Given the description of an element on the screen output the (x, y) to click on. 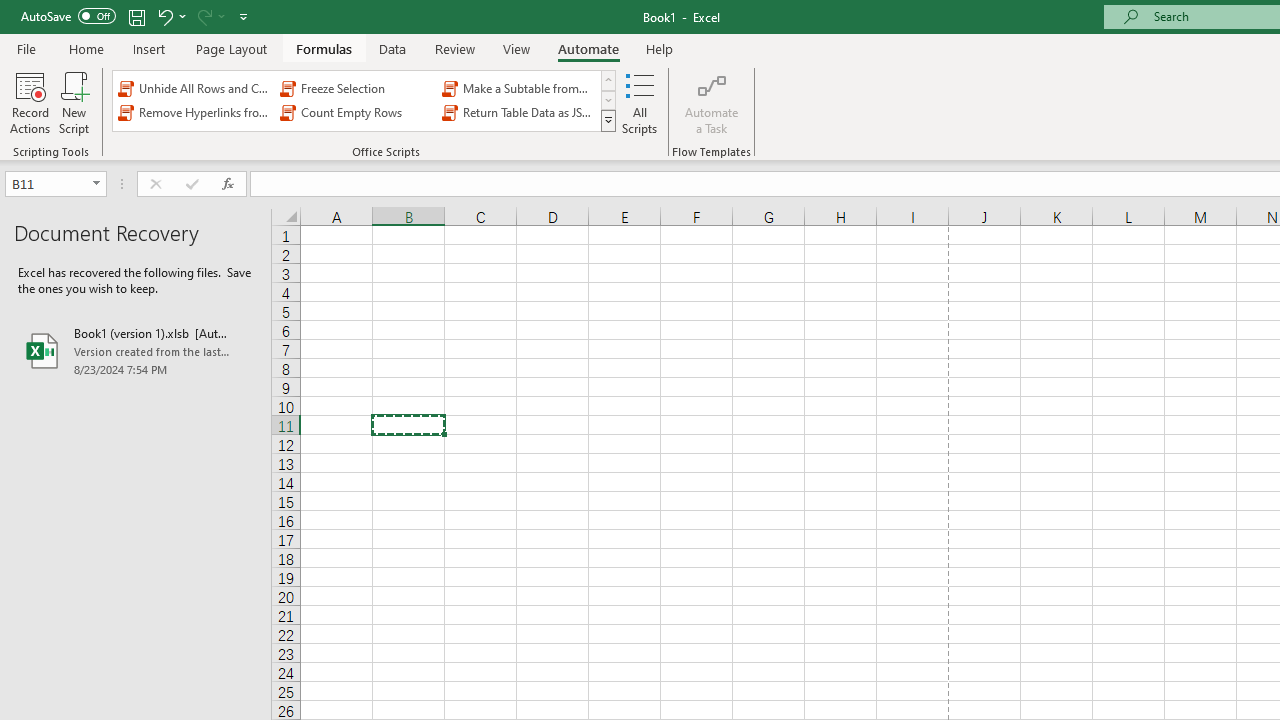
Return Table Data as JSON (518, 112)
AutomationID: OfficeScriptsGallery (365, 100)
New Script (73, 102)
Freeze Selection (356, 88)
Office Scripts (608, 120)
